Given the description of an element on the screen output the (x, y) to click on. 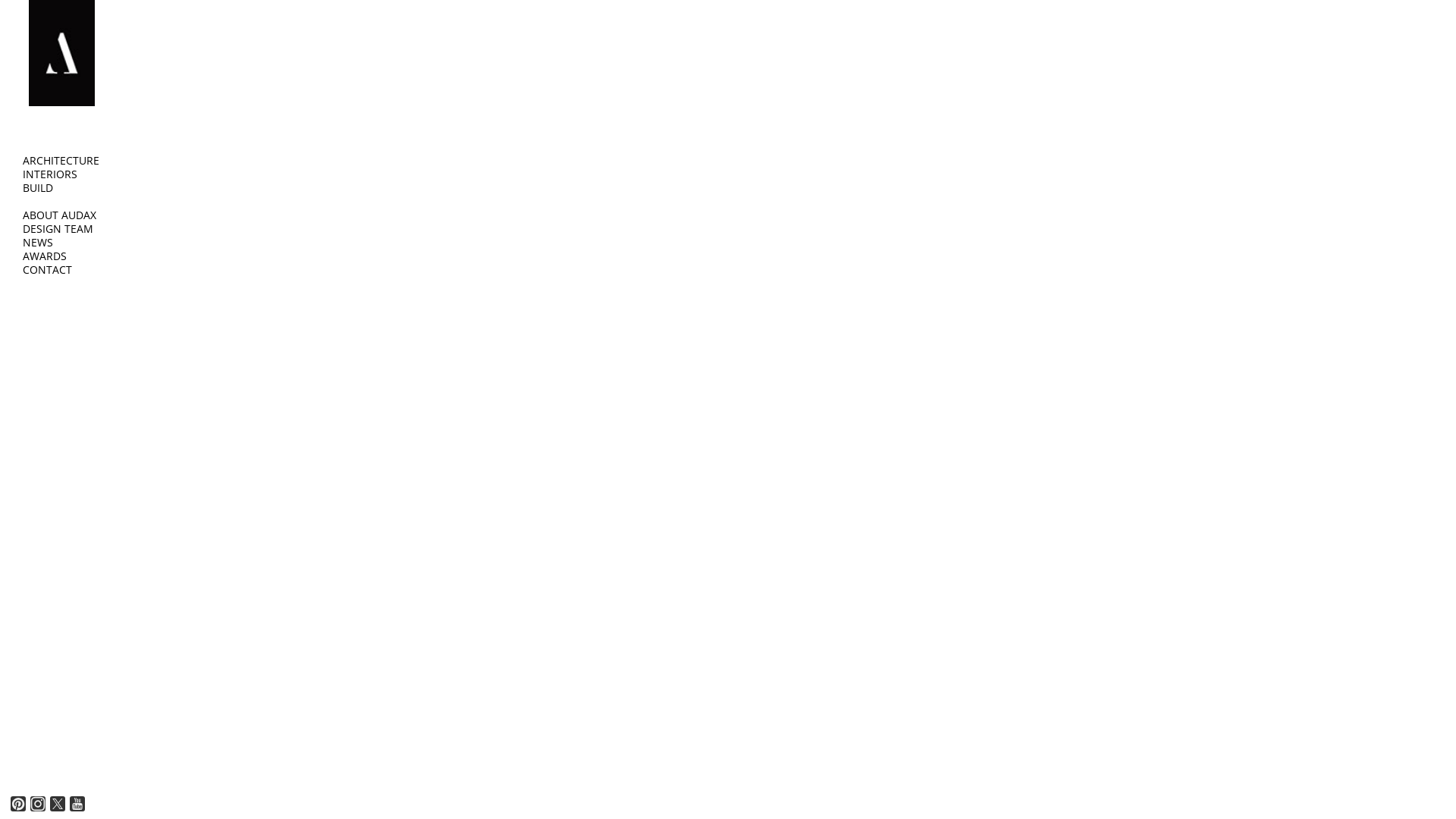
INTERIORS Element type: text (49, 173)
BUILD Element type: text (37, 187)
ABOUT AUDAX Element type: text (59, 214)
ARCHITECTURE Element type: text (60, 160)
CONTACT Element type: text (47, 269)
AWARDS Element type: text (44, 255)
DESIGN TEAM Element type: text (57, 228)
NEWS Element type: text (37, 242)
